Given the description of an element on the screen output the (x, y) to click on. 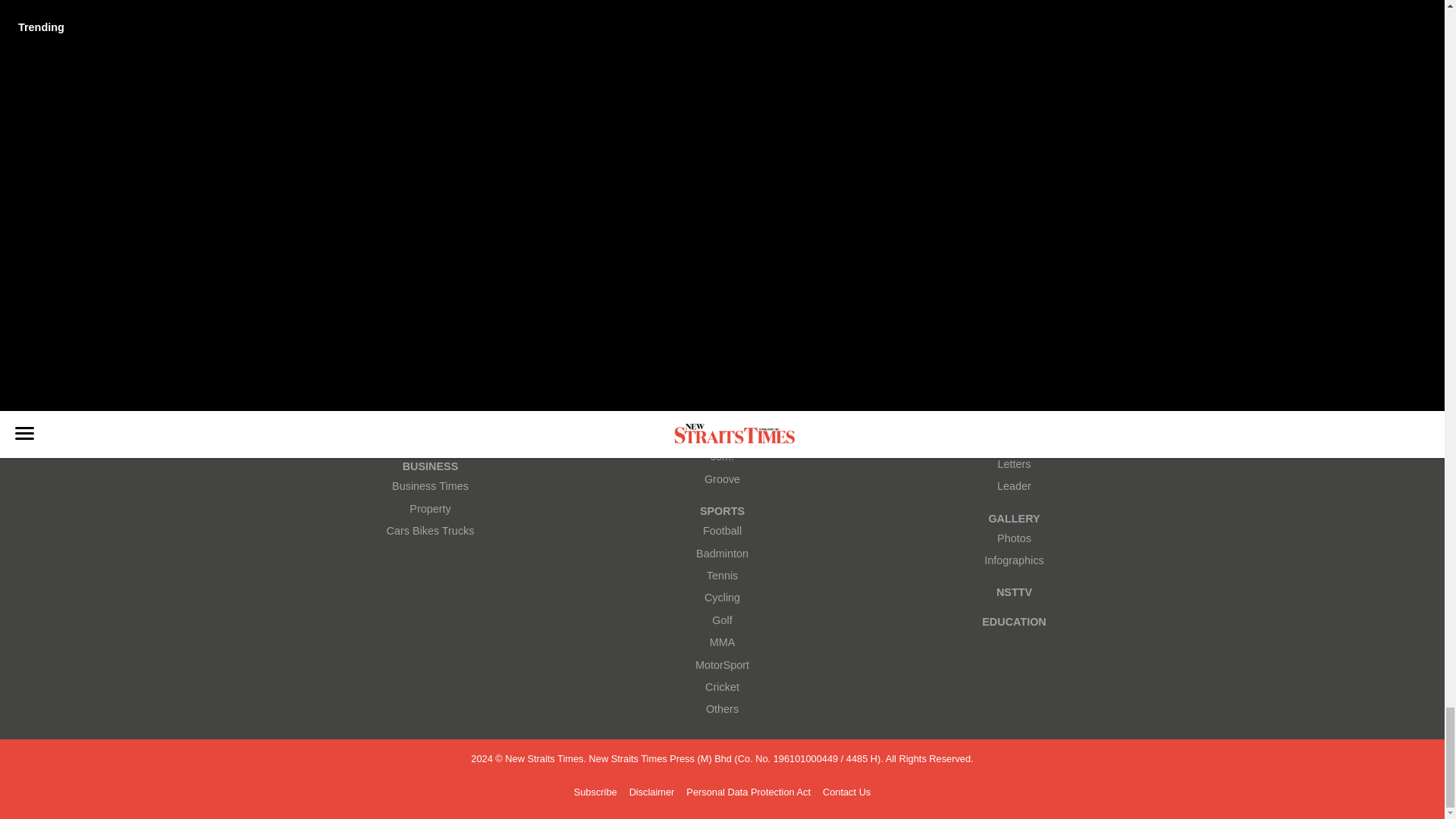
Politics (429, 434)
BUSINESS (429, 466)
NEWS (429, 347)
Nation (429, 412)
